Given the description of an element on the screen output the (x, y) to click on. 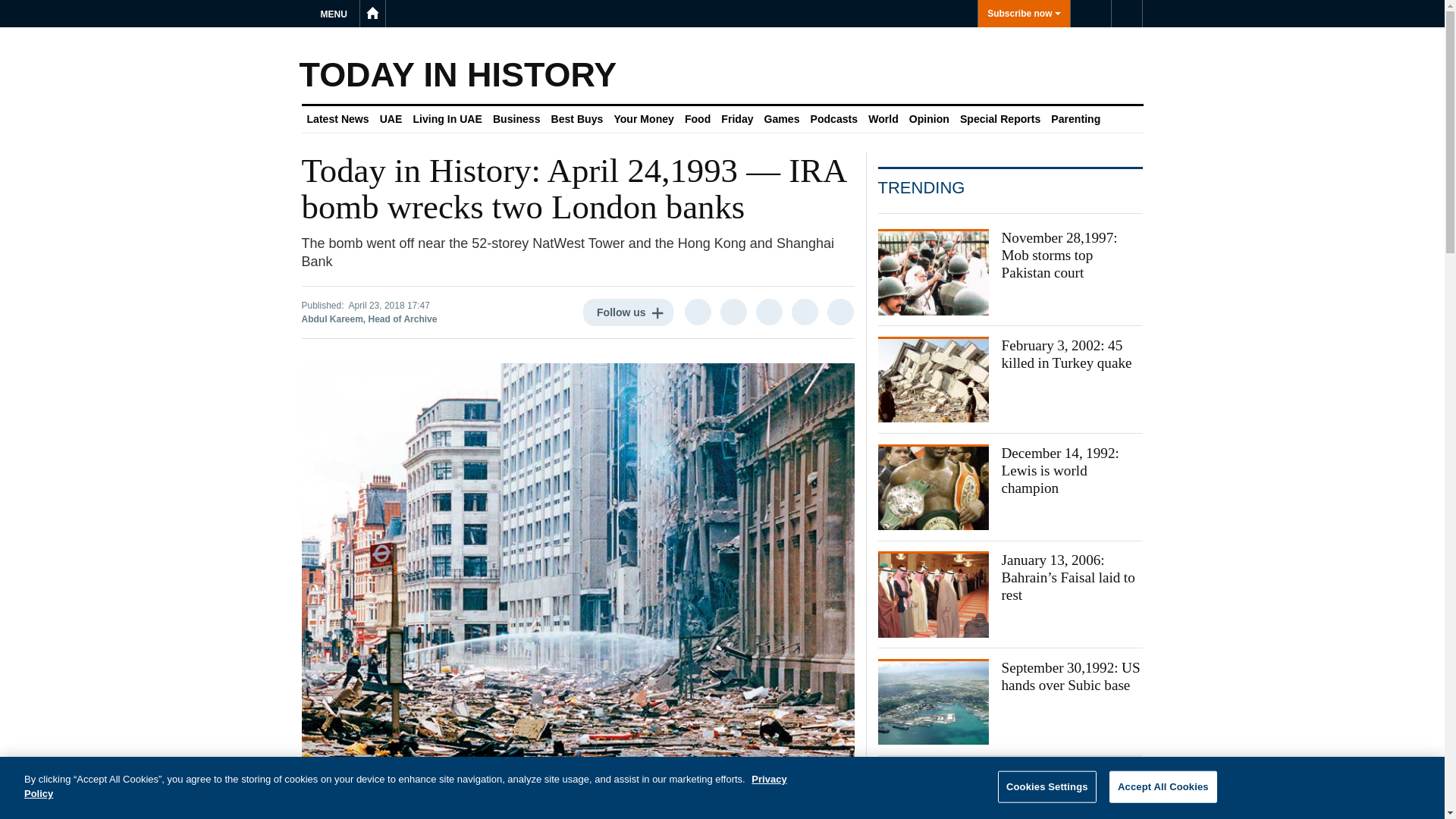
Subscribe now (1024, 13)
MENU (336, 13)
